Given the description of an element on the screen output the (x, y) to click on. 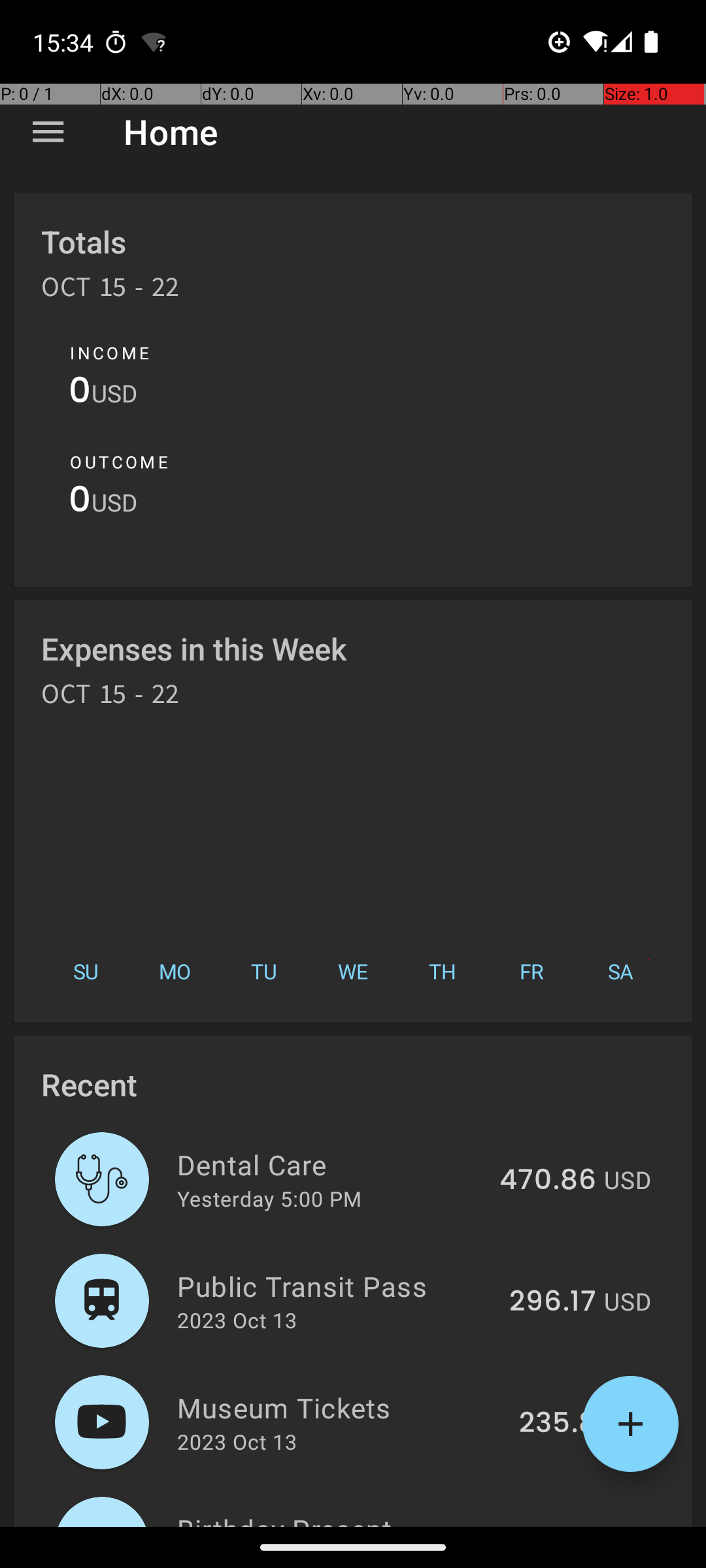
Yesterday 5:00 PM Element type: android.widget.TextView (269, 1198)
470.86 Element type: android.widget.TextView (547, 1180)
Public Transit Pass Element type: android.widget.TextView (335, 1285)
296.17 Element type: android.widget.TextView (552, 1301)
Museum Tickets Element type: android.widget.TextView (340, 1407)
235.8 Element type: android.widget.TextView (557, 1423)
Birthday Present Element type: android.widget.TextView (355, 1518)
51.1 Element type: android.widget.TextView (572, 1524)
